Given the description of an element on the screen output the (x, y) to click on. 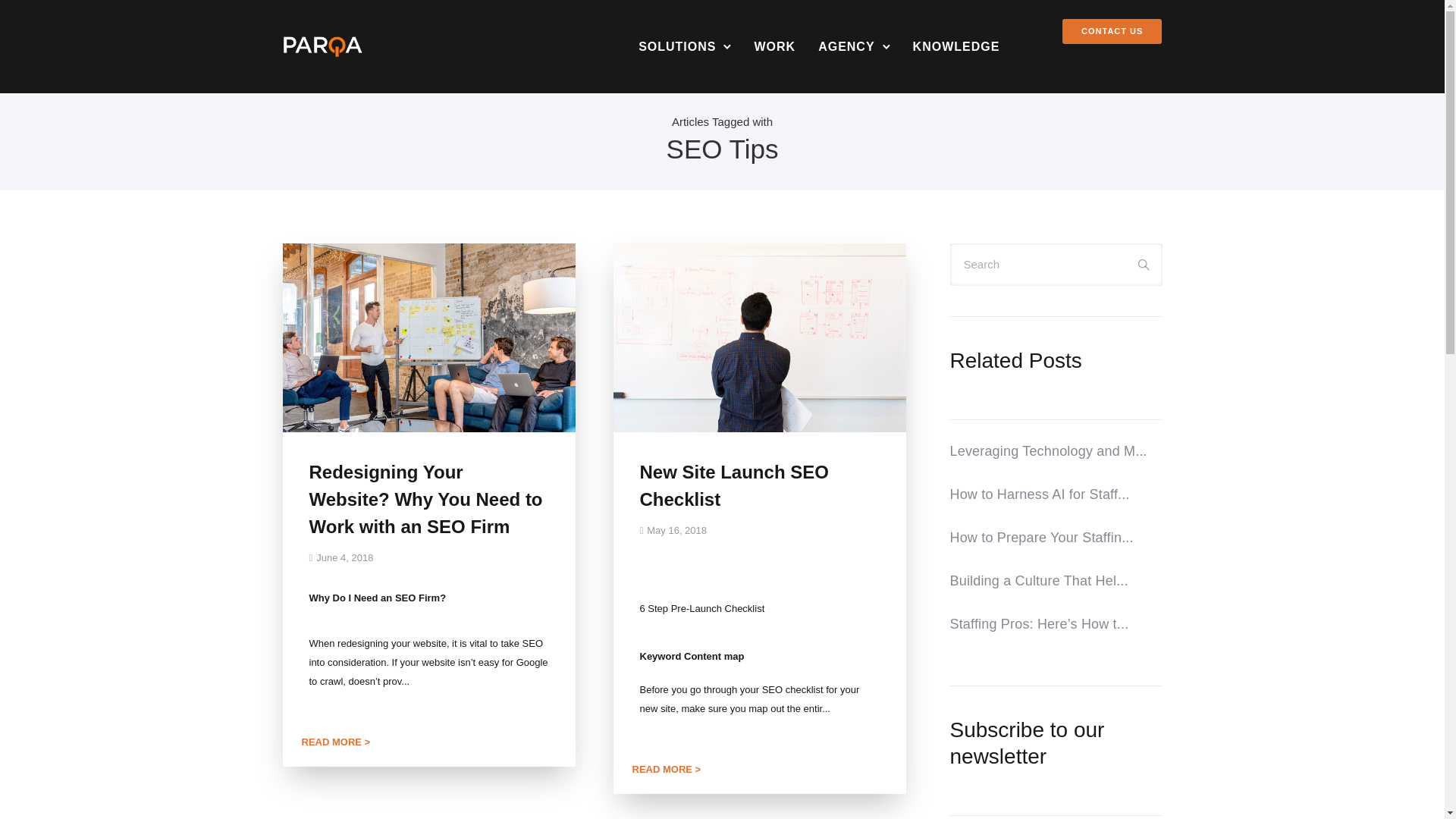
AGENCY (846, 45)
Solutions (676, 45)
Knowledge (956, 45)
WORK (774, 45)
May 16, 2018 (673, 530)
Leveraging Technology and M... (1055, 450)
KNOWLEDGE (956, 45)
How to Prepare Your Staffin... (1055, 537)
June 4, 2018 (341, 557)
SOLUTIONS (676, 45)
Building a Culture That Hel... (1055, 580)
How to Harness AI for Staff... (1055, 493)
Agency (846, 45)
CONTACT US (1111, 31)
